Given the description of an element on the screen output the (x, y) to click on. 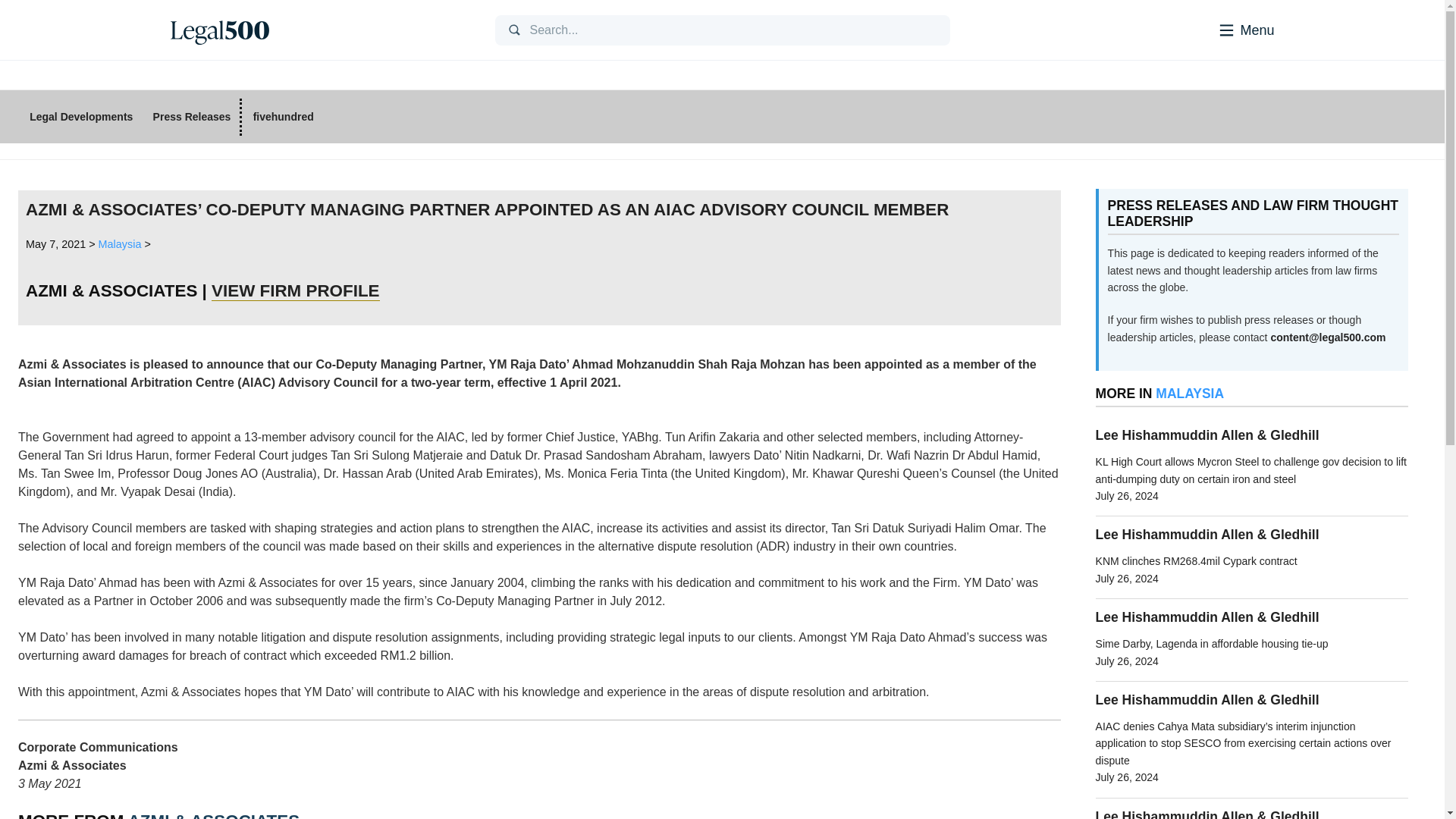
Legal Developments (81, 116)
Legal 500 (218, 30)
Home (320, 30)
Press Releases (191, 116)
Menu (1225, 29)
